Given the description of an element on the screen output the (x, y) to click on. 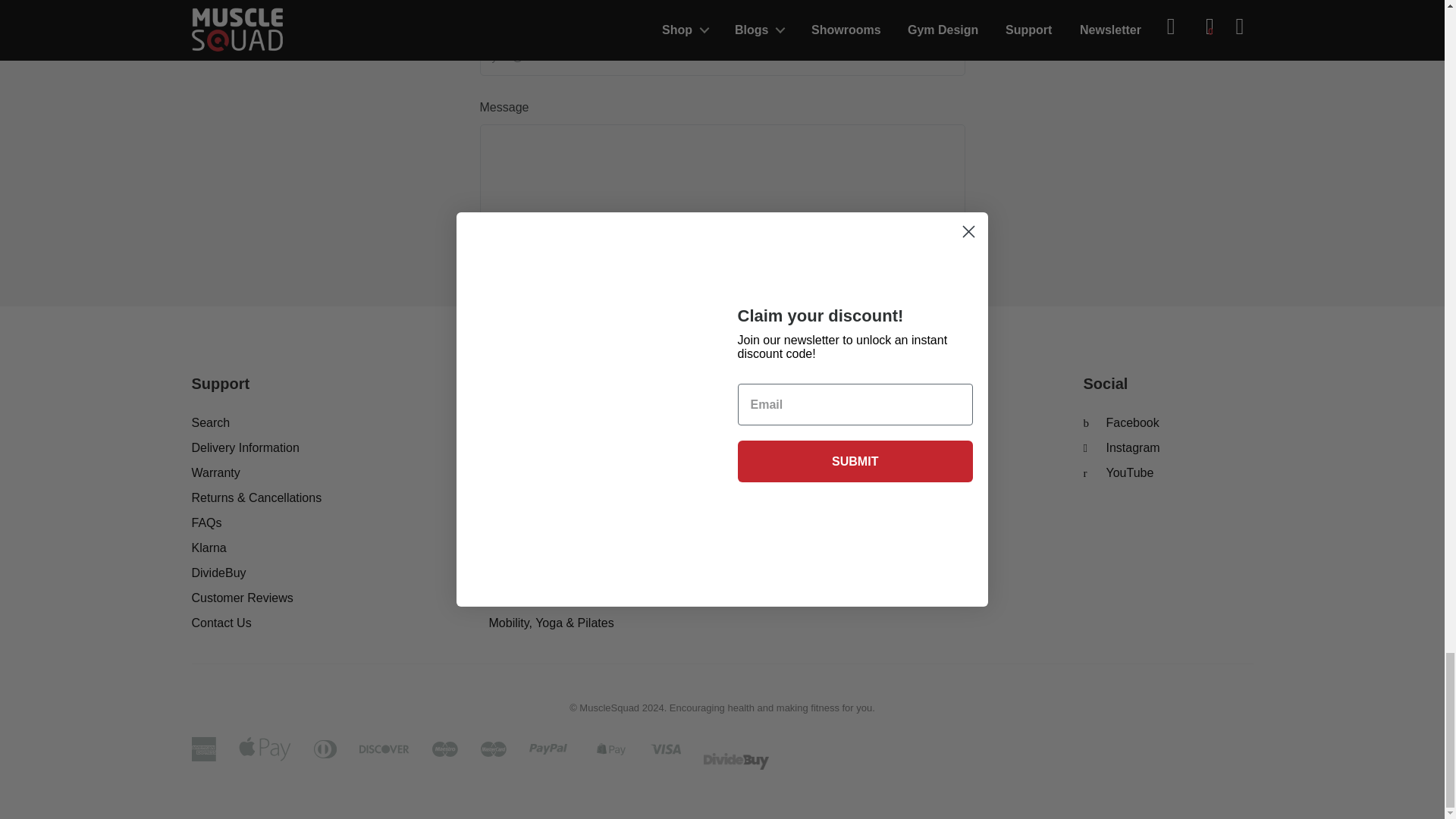
Submit (525, 286)
